Given the description of an element on the screen output the (x, y) to click on. 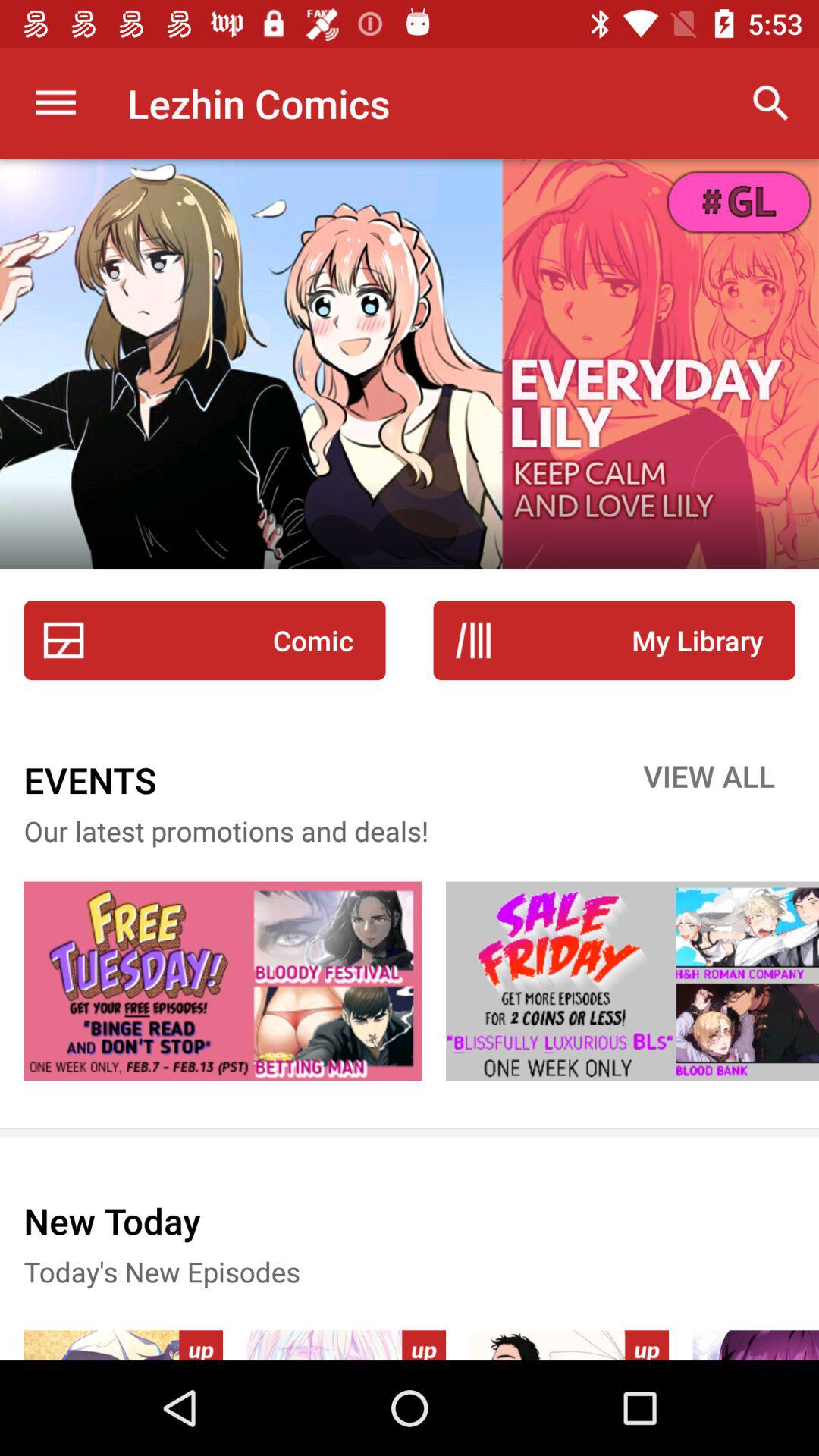
jump to the view all item (709, 779)
